Given the description of an element on the screen output the (x, y) to click on. 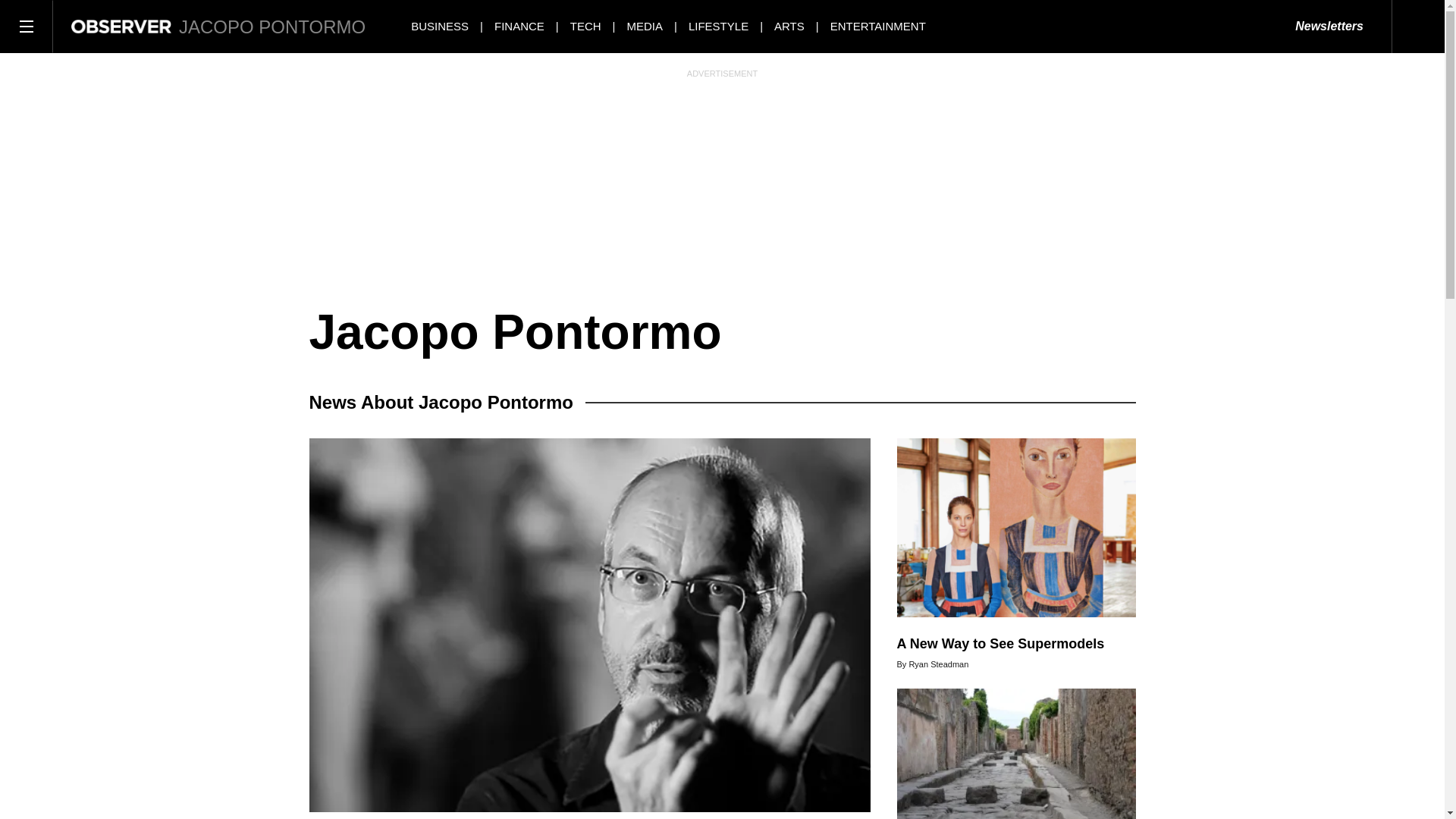
Newsletters (1329, 26)
ENTERTAINMENT (877, 25)
ARTS (789, 25)
Observer (121, 26)
BUSINESS (439, 25)
TECH (585, 25)
MEDIA (645, 25)
FINANCE (519, 25)
LIFESTYLE (718, 25)
